Given the description of an element on the screen output the (x, y) to click on. 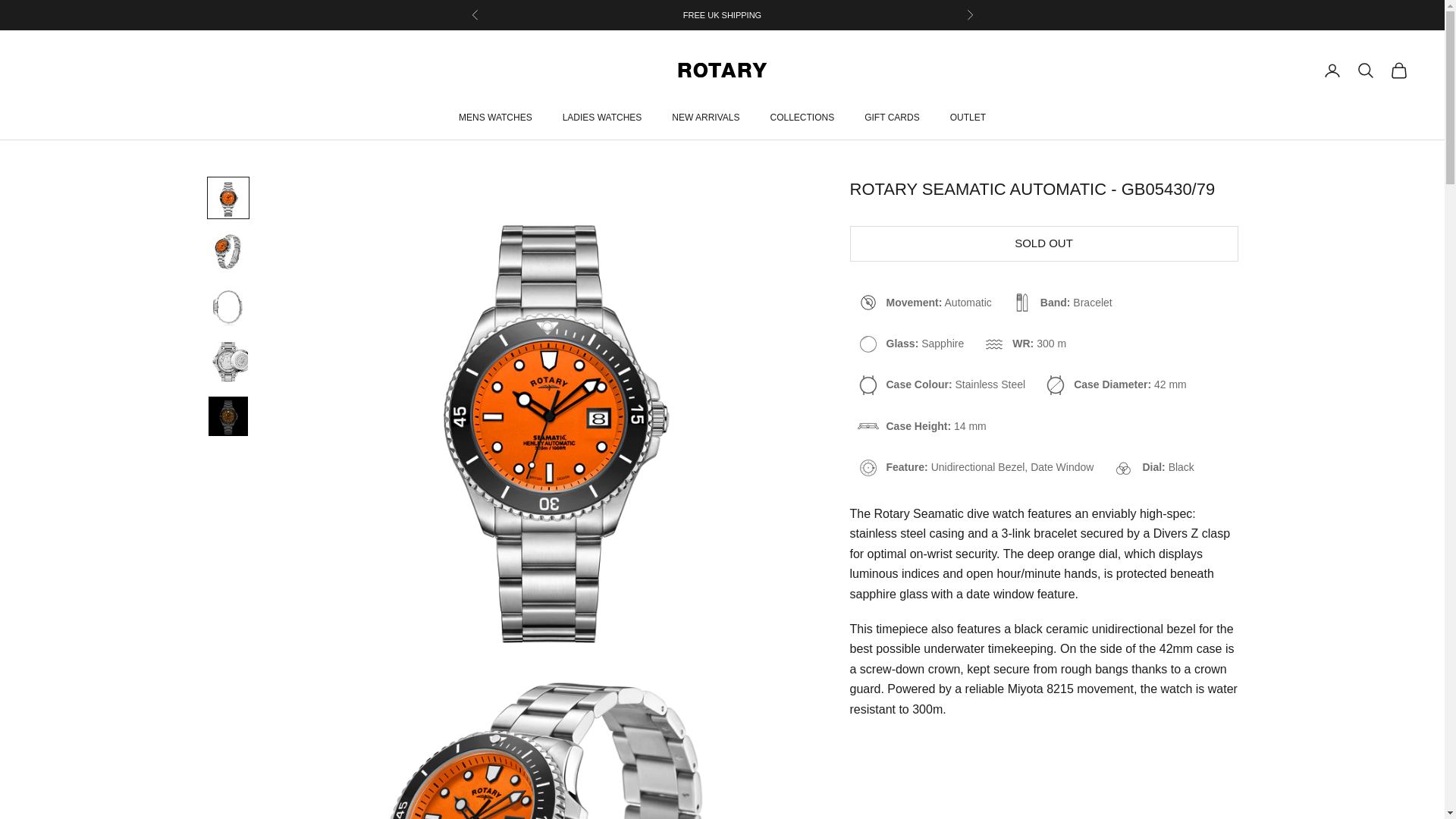
Open account page (1331, 70)
Rotary Watches (722, 70)
GIFT CARDS (891, 117)
OUTLET (967, 117)
